Given the description of an element on the screen output the (x, y) to click on. 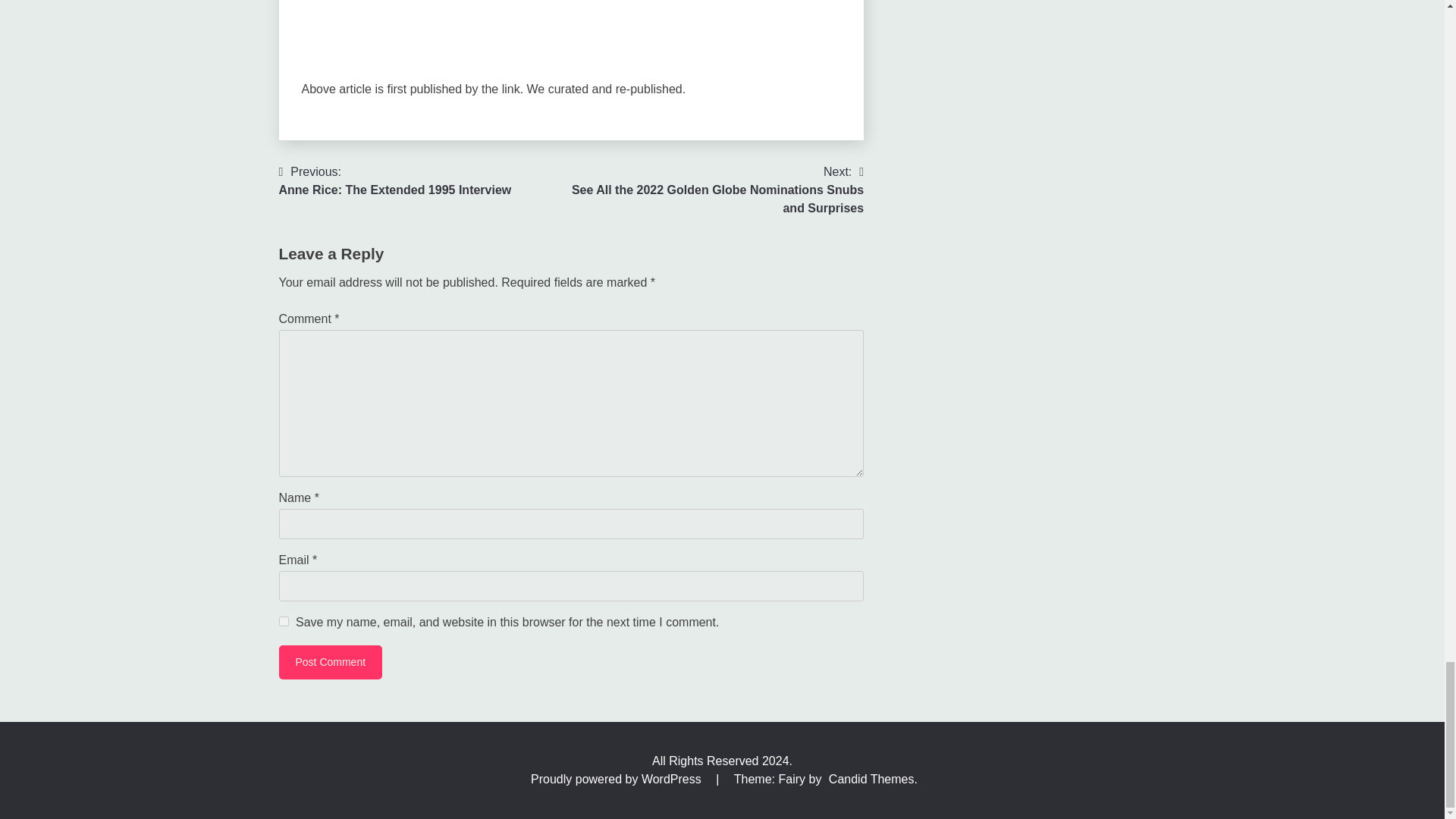
Post Comment (395, 180)
Post Comment (330, 662)
yes (330, 662)
